Given the description of an element on the screen output the (x, y) to click on. 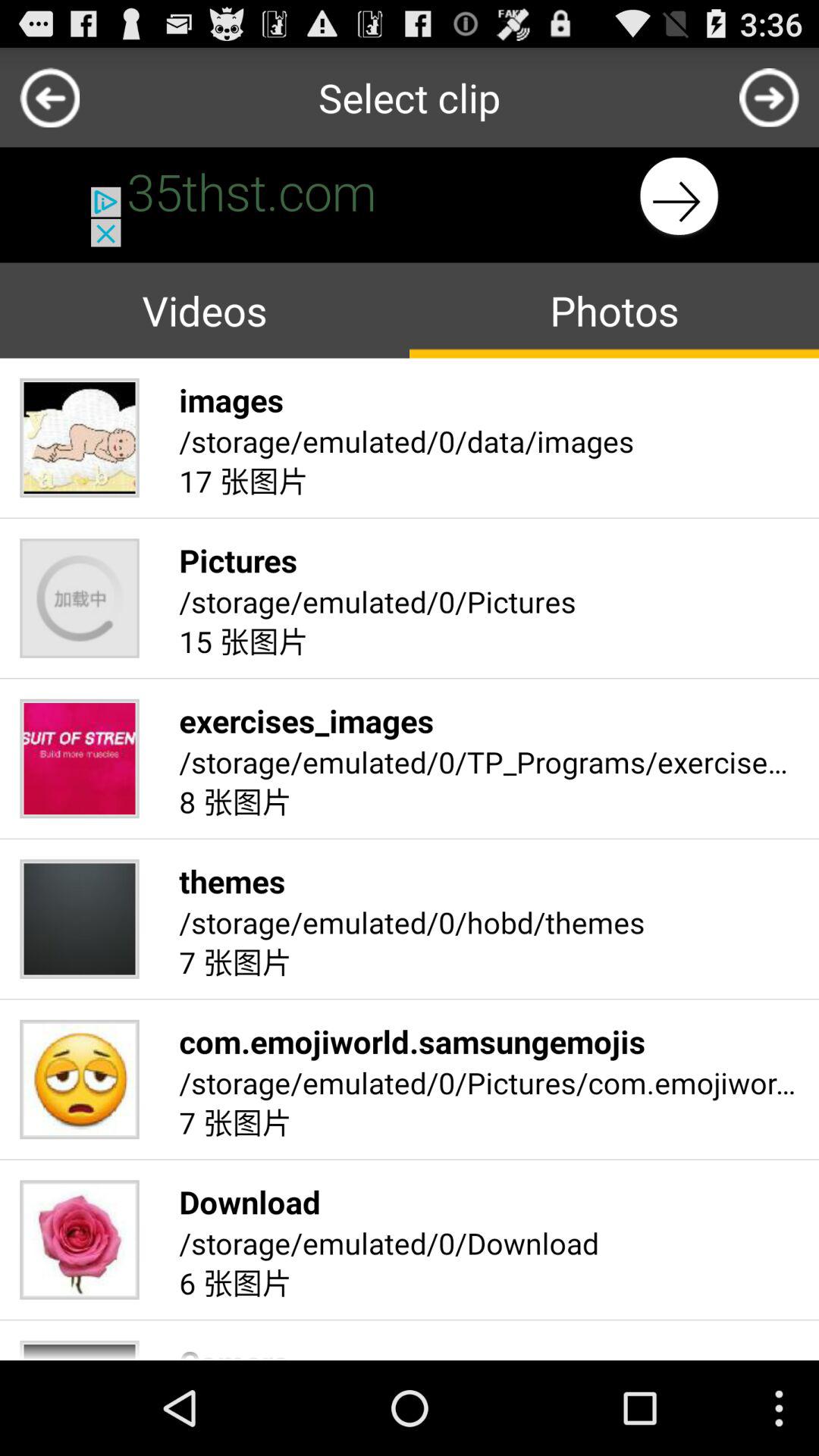
go next (409, 196)
